Given the description of an element on the screen output the (x, y) to click on. 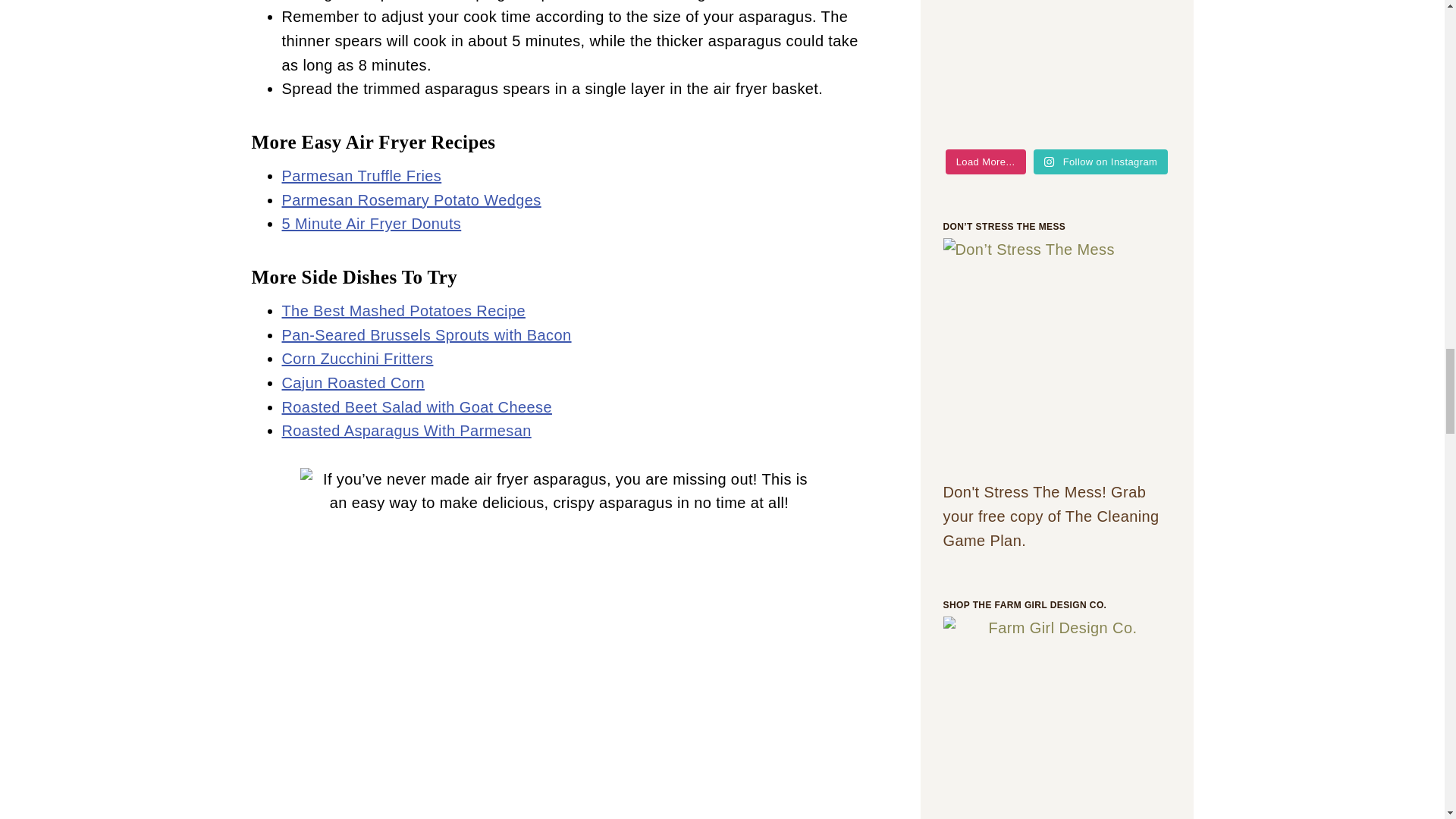
Shop The Farm Girl Design Co. (1056, 680)
Send it to me! (1056, 352)
